Given the description of an element on the screen output the (x, y) to click on. 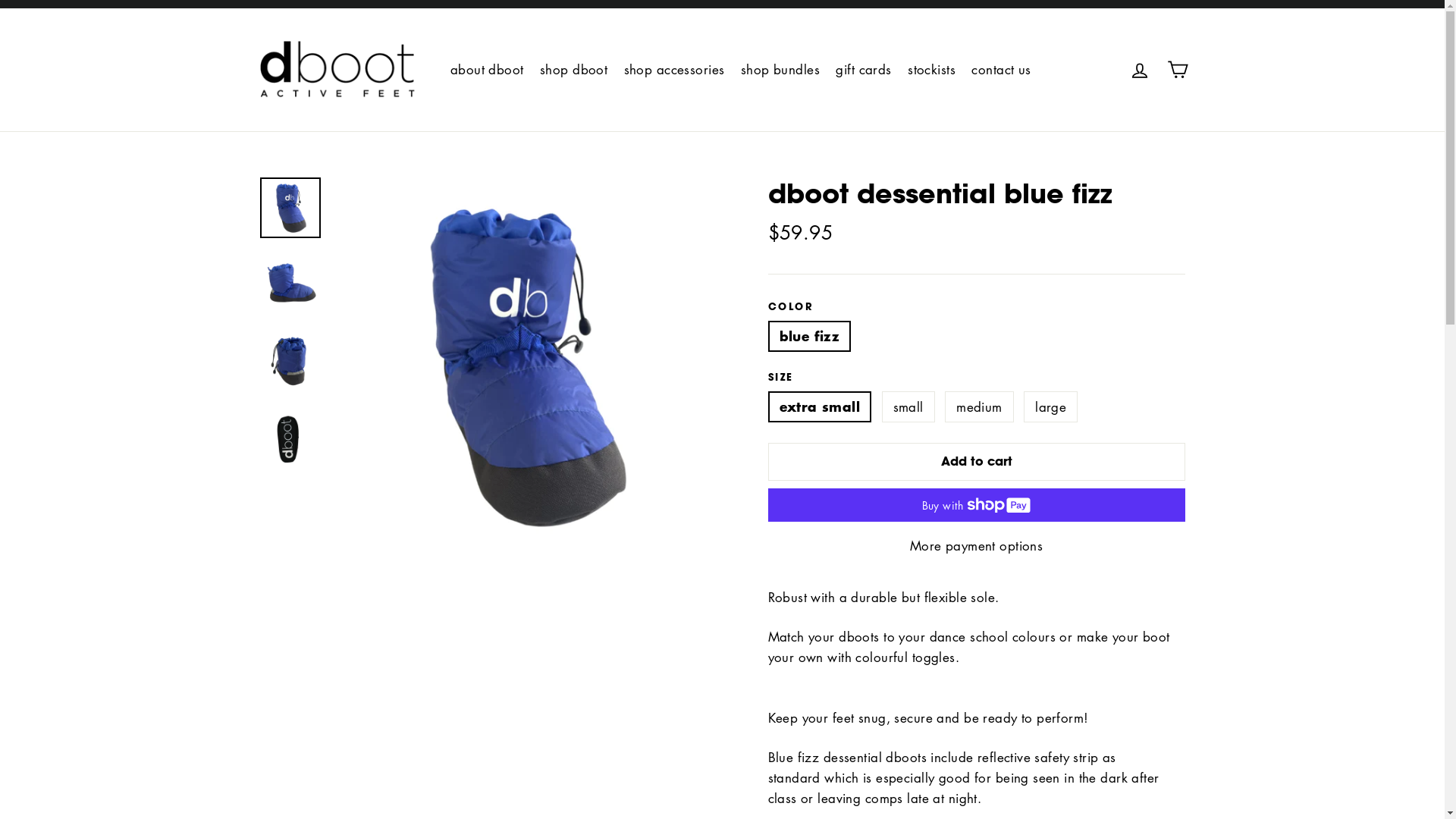
Skip to content Element type: text (0, 0)
shop dboot Element type: text (573, 69)
gift cards Element type: text (863, 69)
shop bundles Element type: text (779, 69)
stockists Element type: text (931, 69)
Log in Element type: text (1139, 70)
contact us Element type: text (1000, 69)
Add to cart Element type: text (975, 461)
More payment options Element type: text (975, 545)
shop accessories Element type: text (674, 69)
about dboot Element type: text (487, 69)
Cart Element type: text (1176, 69)
